Given the description of an element on the screen output the (x, y) to click on. 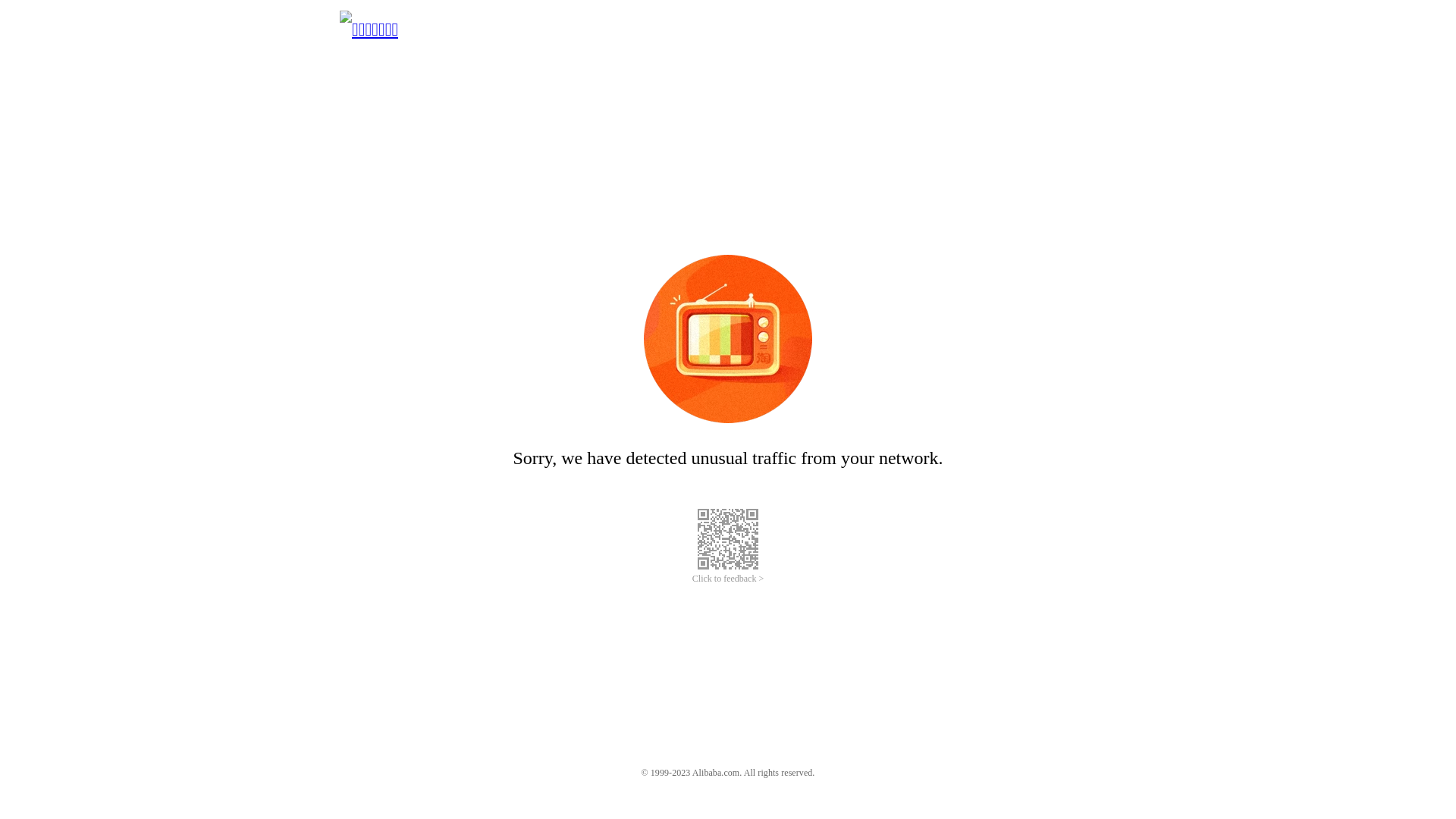
Click to feedback > Element type: text (727, 578)
